Given the description of an element on the screen output the (x, y) to click on. 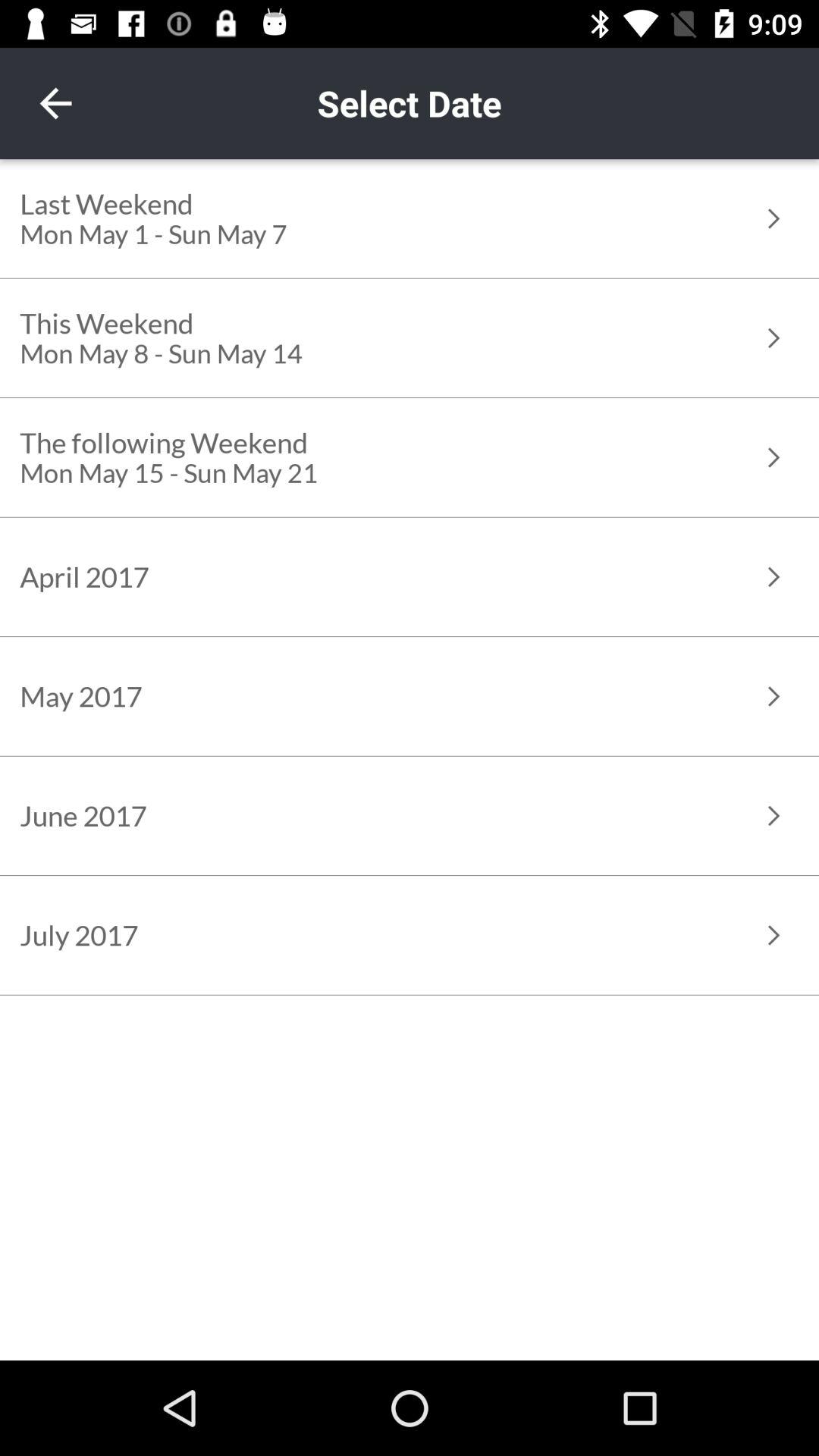
select icon above last weekend (55, 103)
